Given the description of an element on the screen output the (x, y) to click on. 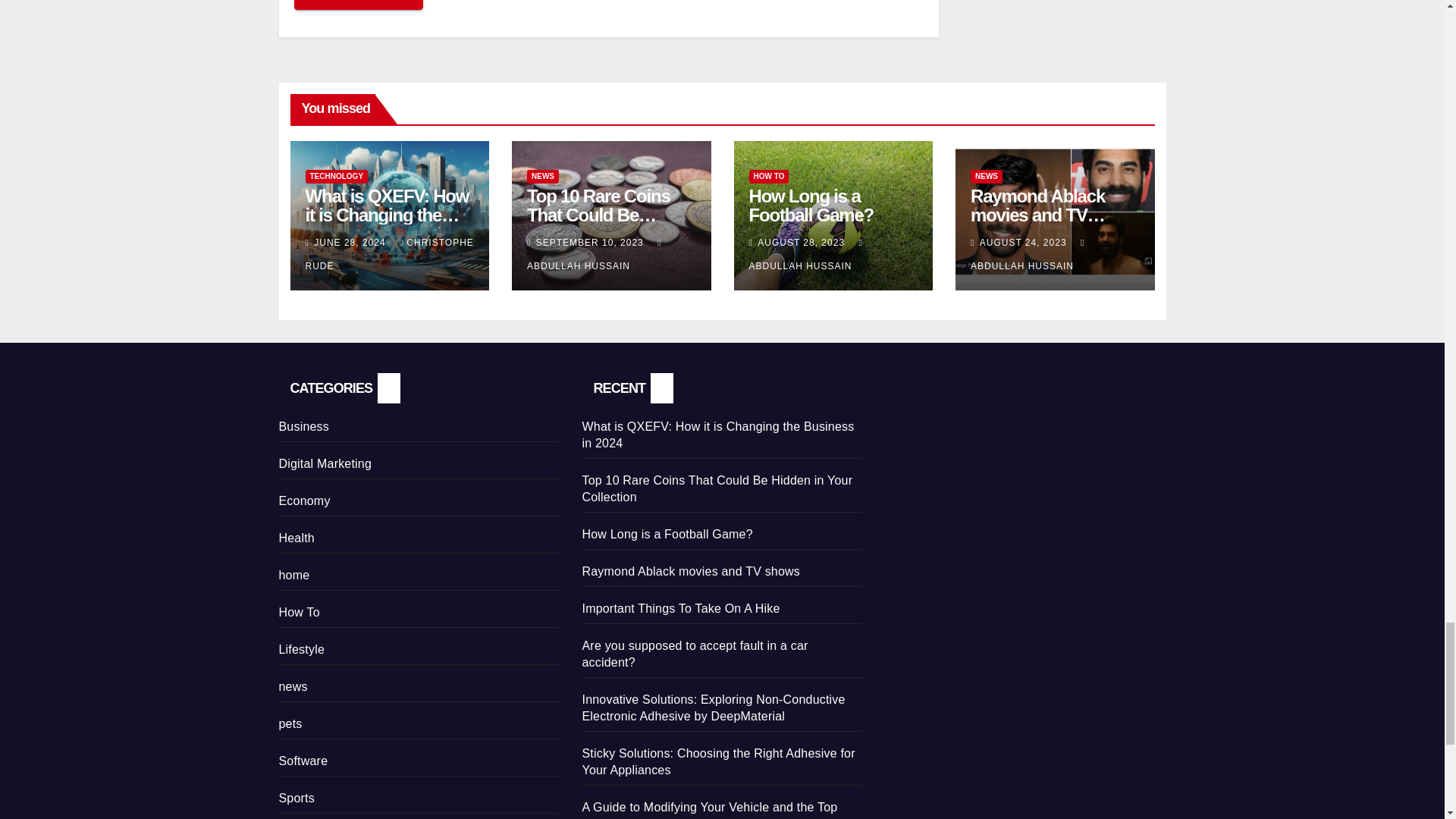
Post Comment (358, 4)
Permalink to: Raymond Ablack movies and TV shows (1038, 214)
Permalink to: How Long is a Football Game? (812, 205)
